Given the description of an element on the screen output the (x, y) to click on. 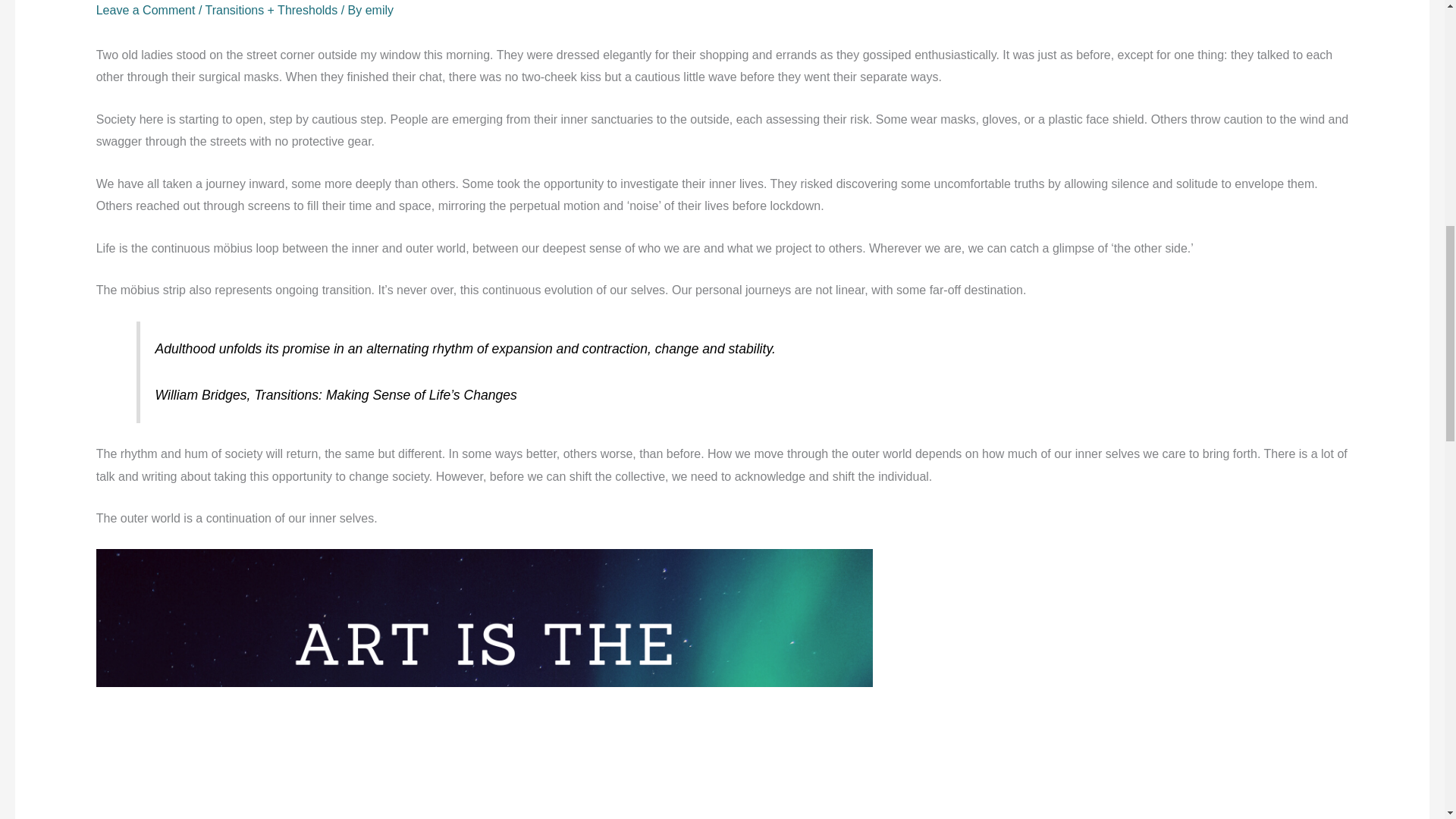
View all posts by emily (379, 10)
Leave a Comment (145, 10)
emily (379, 10)
